Given the description of an element on the screen output the (x, y) to click on. 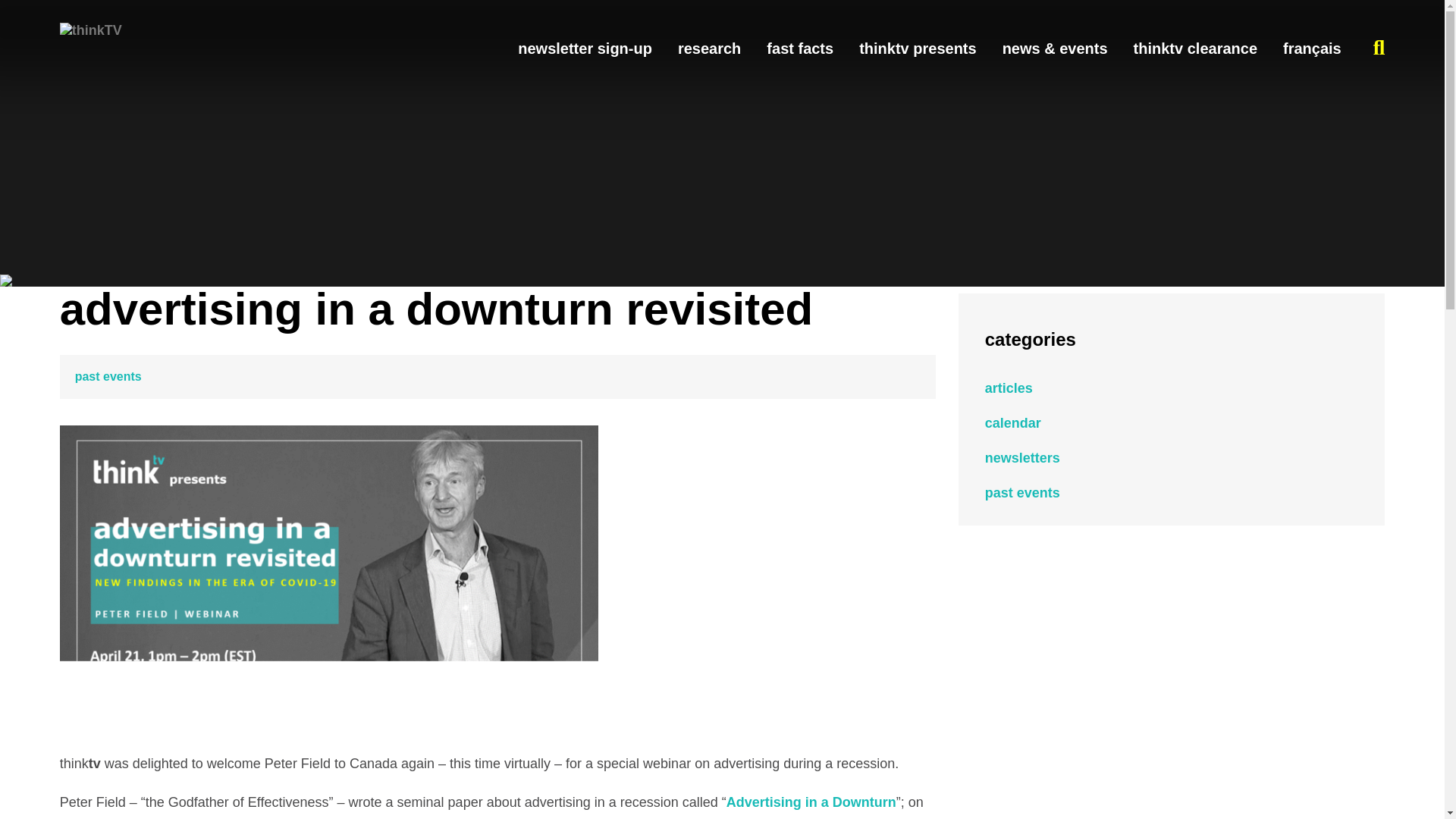
thinktv clearance (1195, 48)
thinktv presents (917, 48)
Advertising in a Downturn (811, 801)
articles (1008, 387)
newsletters (1022, 458)
past events (1022, 492)
View all posts in past events (108, 376)
past events (108, 376)
newsletter sign-up (585, 48)
Toggle Dropdown (1378, 47)
